Given the description of an element on the screen output the (x, y) to click on. 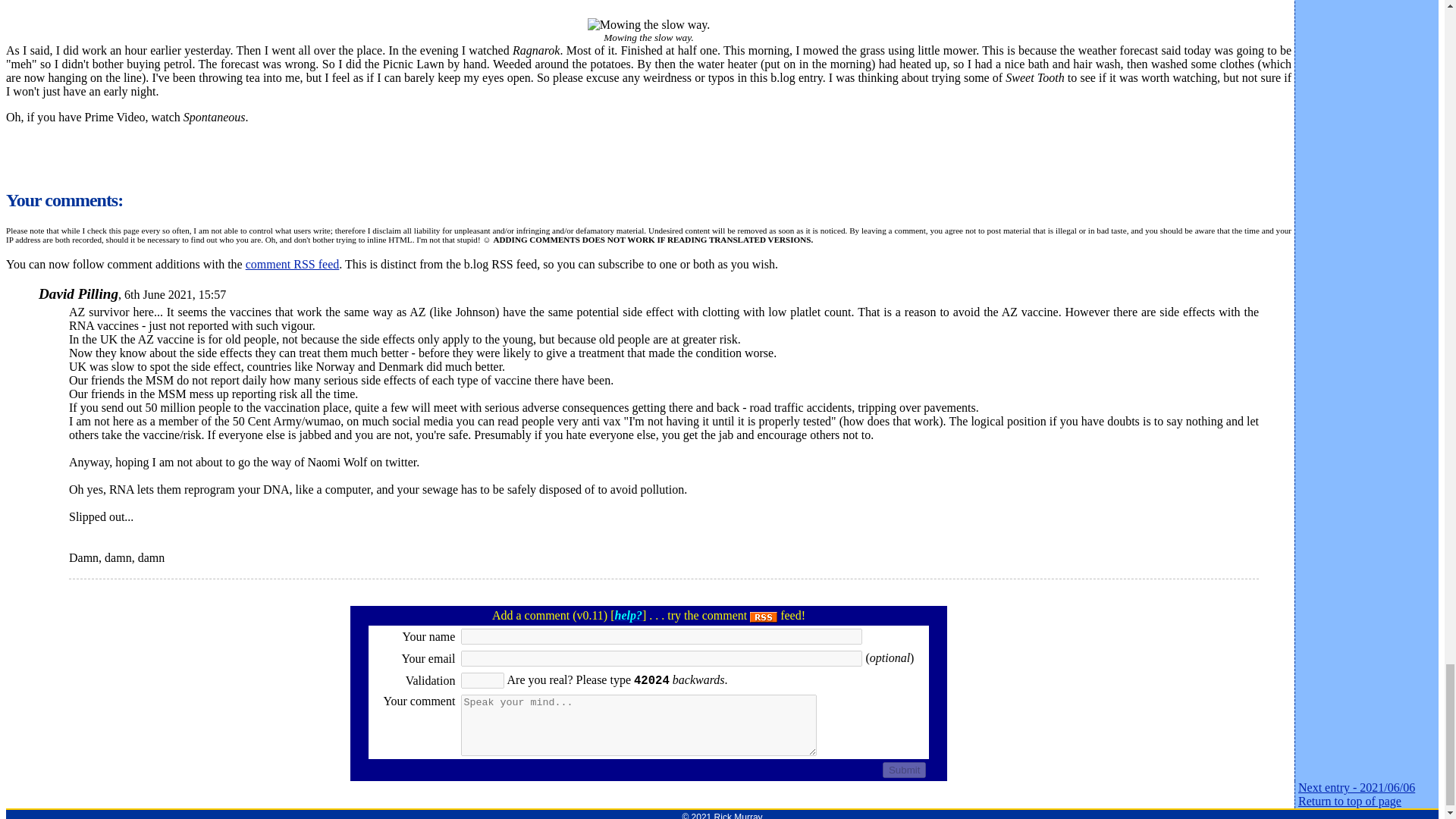
Submit (904, 770)
help? (628, 615)
Submit (904, 770)
comment RSS feed (292, 264)
